Given the description of an element on the screen output the (x, y) to click on. 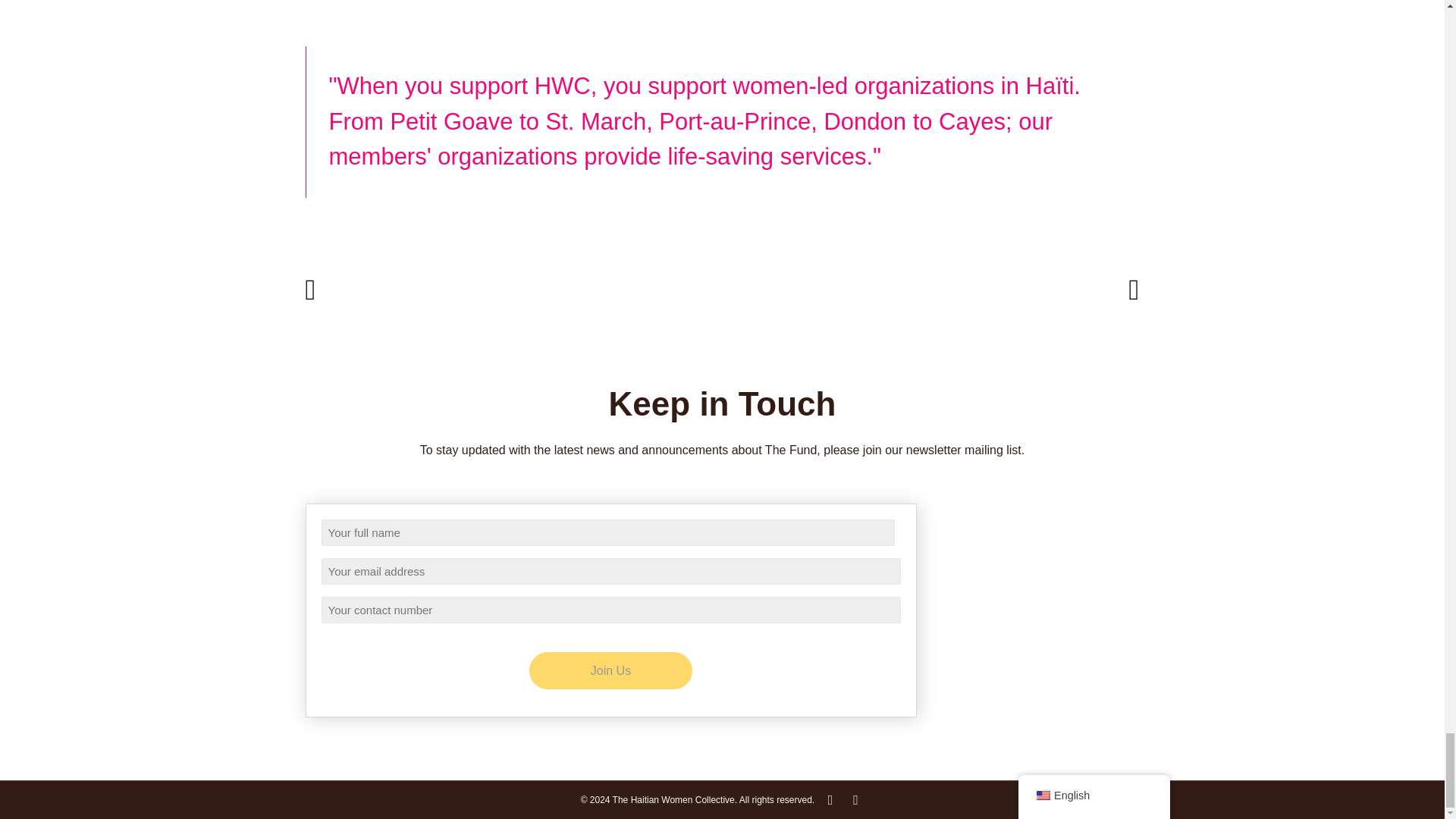
Join Us (611, 670)
Join Us (611, 670)
Instagram (830, 800)
Facebook (855, 800)
